Given the description of an element on the screen output the (x, y) to click on. 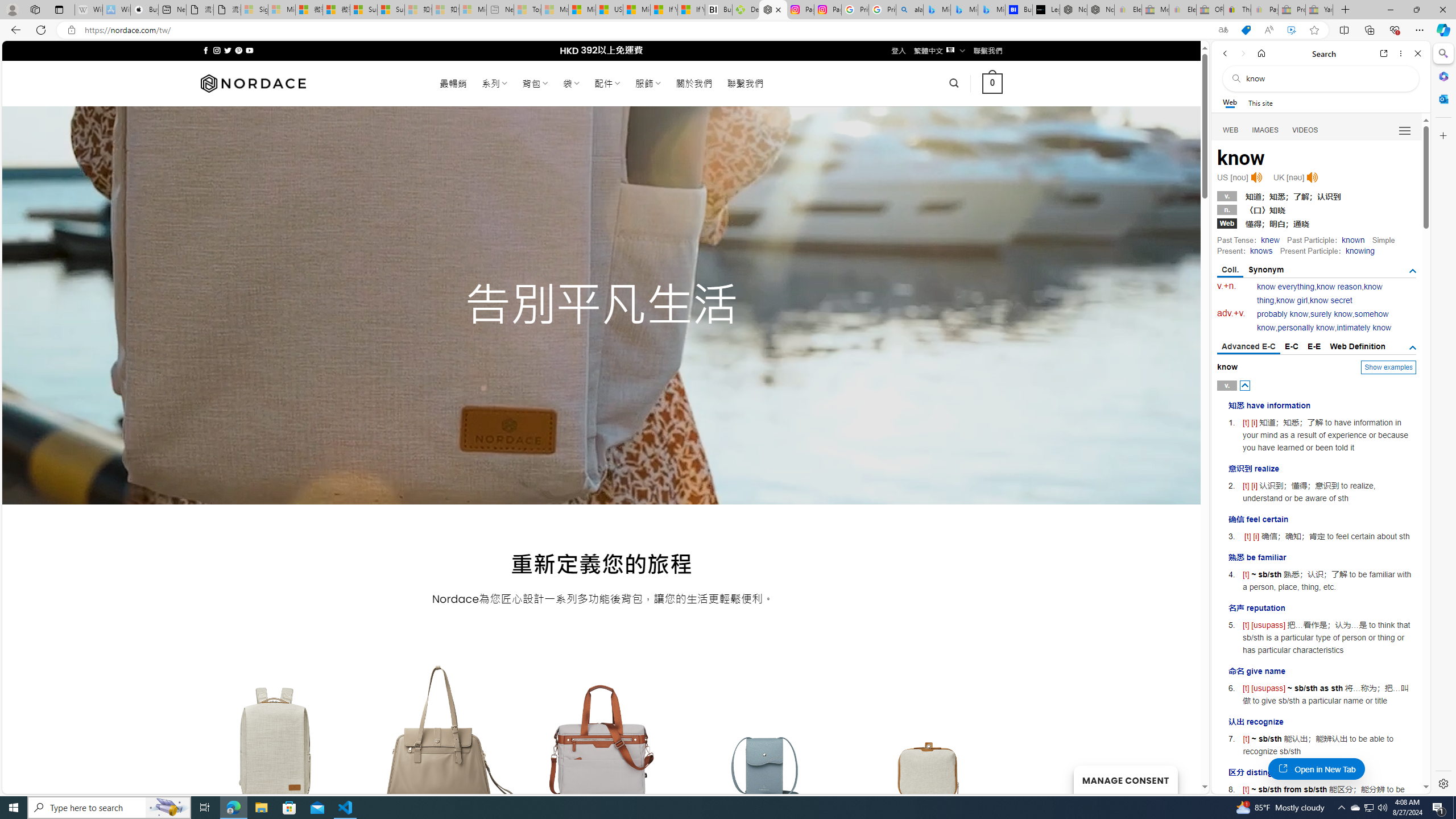
somehow know (1322, 320)
Web scope (1230, 102)
Search Filter, VIDEOS (1304, 129)
surely know (1331, 313)
Descarga Driver Updater (746, 9)
